Given the description of an element on the screen output the (x, y) to click on. 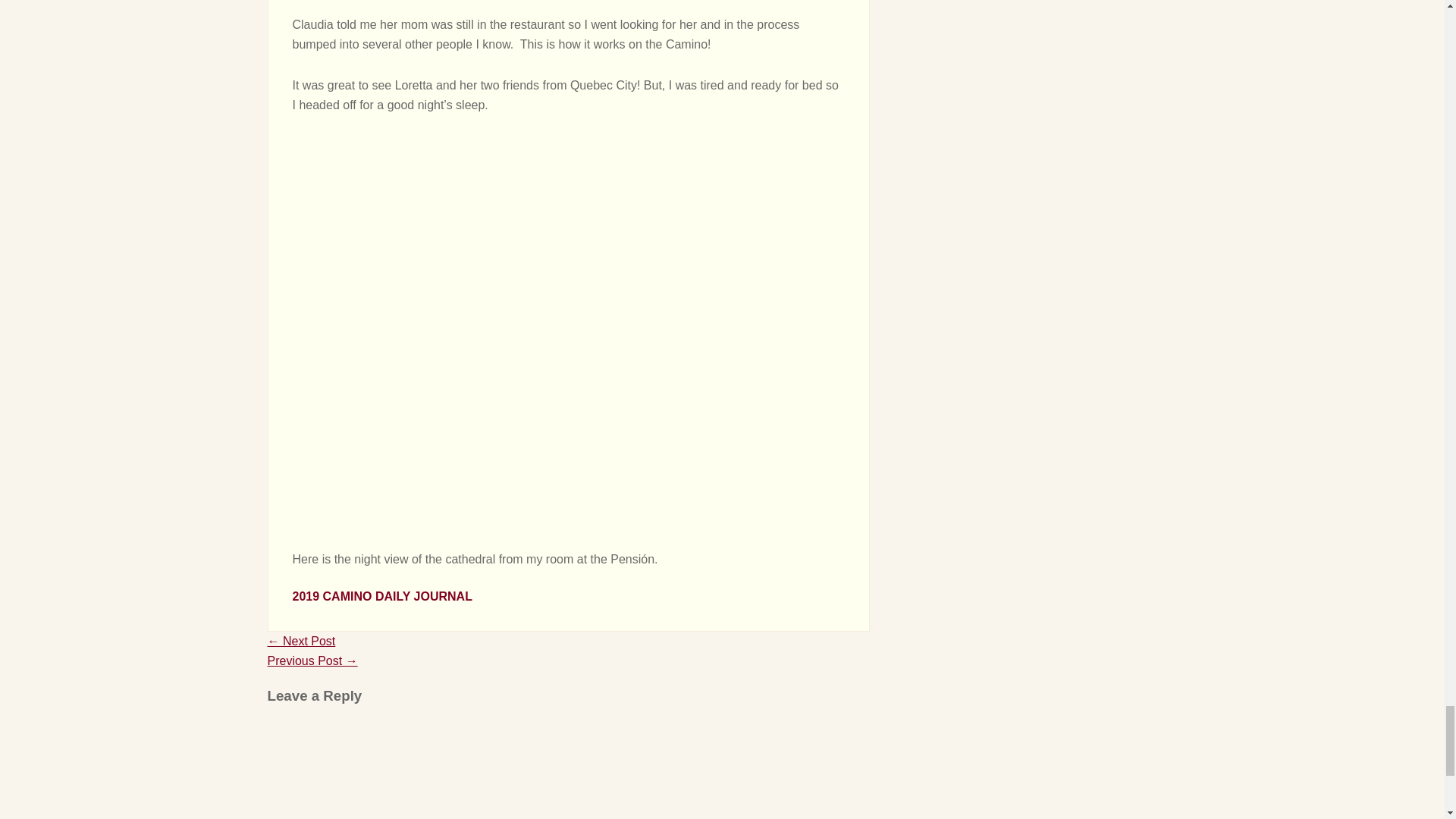
DAILY JOURNAL (423, 595)
Comment Form (567, 770)
2019 CAMINO (332, 595)
